Given the description of an element on the screen output the (x, y) to click on. 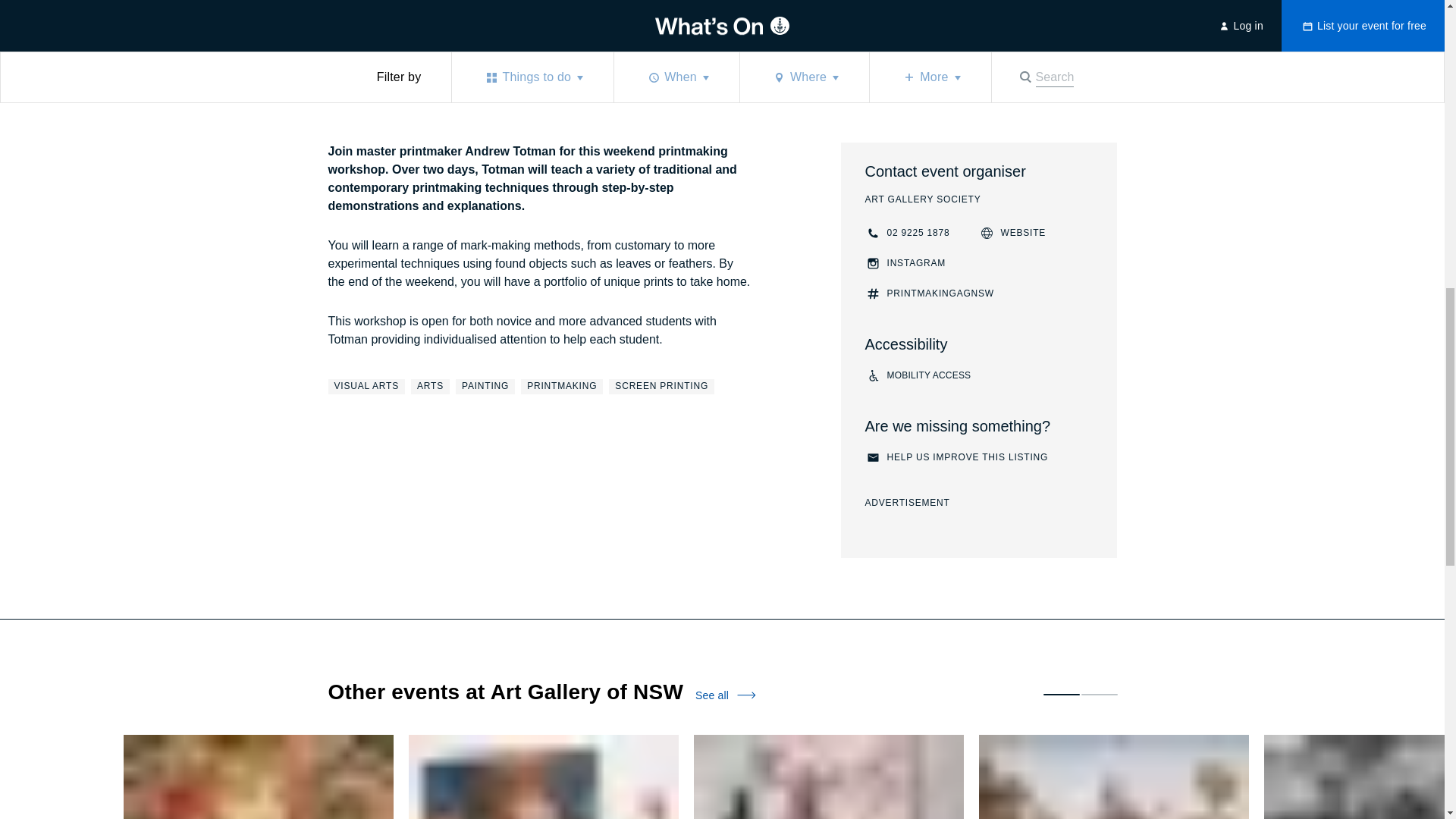
Book tickets (975, 37)
PAINTING (485, 386)
Archibald, Wynne and Sulman Prizes (542, 776)
Alphonse Mucha: Spirit of Art Nouveau (257, 776)
MOBILITY ACCESS (906, 233)
Get directions (978, 375)
ARTS (373, 40)
See all (429, 386)
PRINTMAKING (975, 37)
SCREEN PRINTING (725, 694)
VISUAL ARTS (1011, 233)
